Given the description of an element on the screen output the (x, y) to click on. 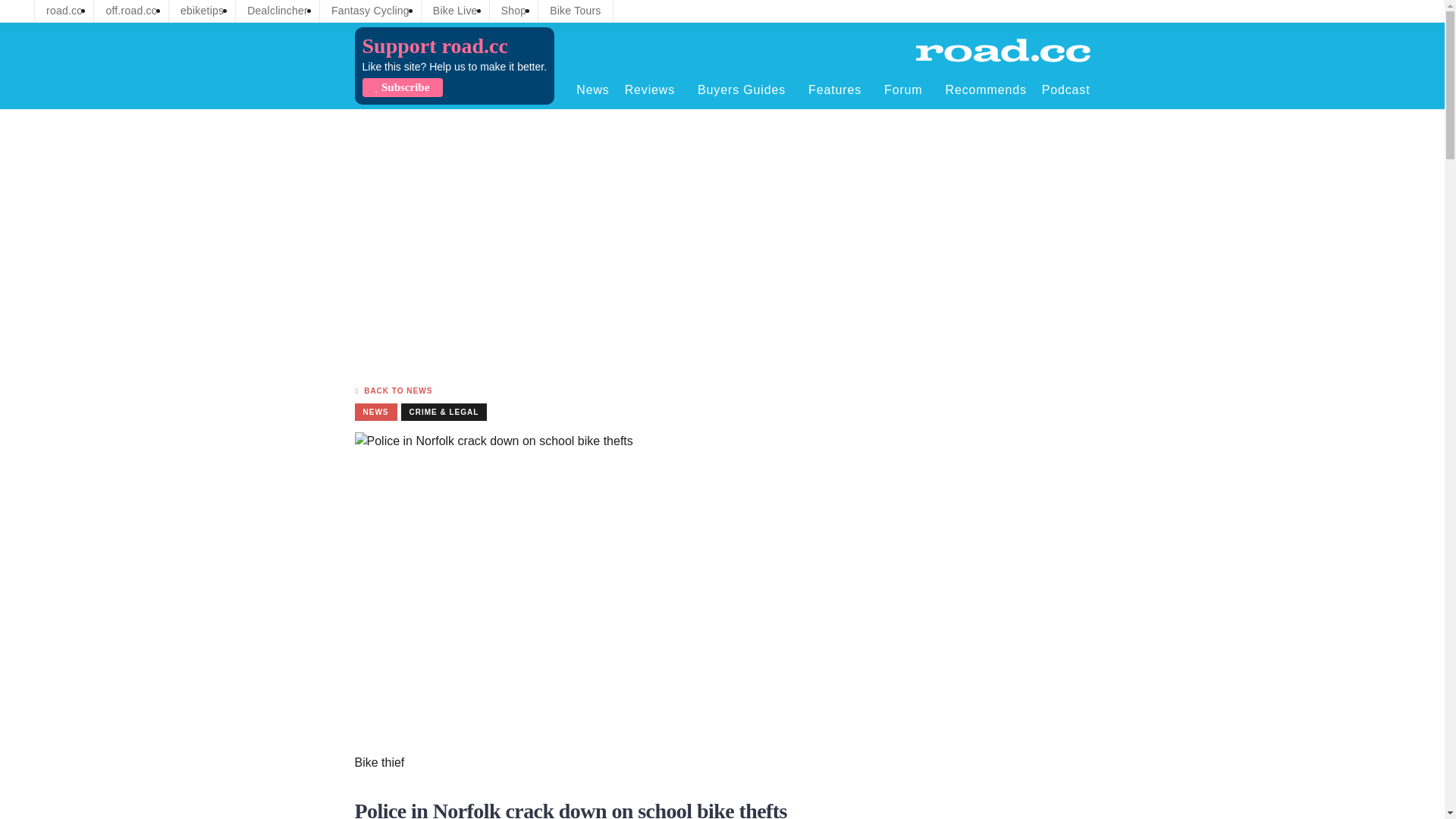
ebiketips (201, 11)
Shop (513, 11)
Fantasy Cycling (370, 11)
road.cc (63, 11)
Bike Tours (574, 11)
Subscribe (402, 87)
Reviews (653, 89)
Dealclincher (276, 11)
Home (1002, 50)
off.road.cc (131, 11)
